Given the description of an element on the screen output the (x, y) to click on. 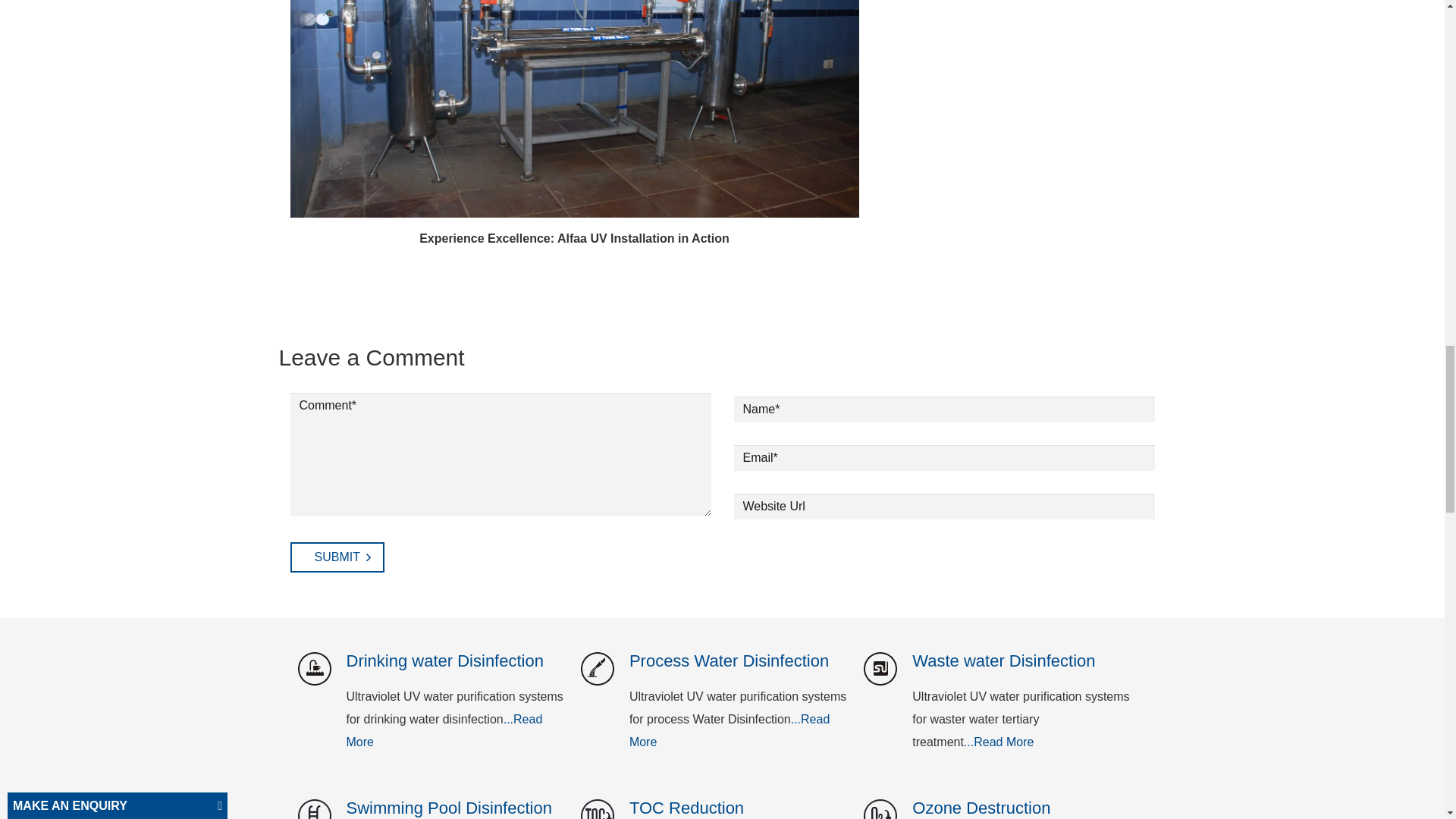
Read More (998, 741)
Read More (443, 730)
Read More (728, 730)
Submit (336, 557)
